Given the description of an element on the screen output the (x, y) to click on. 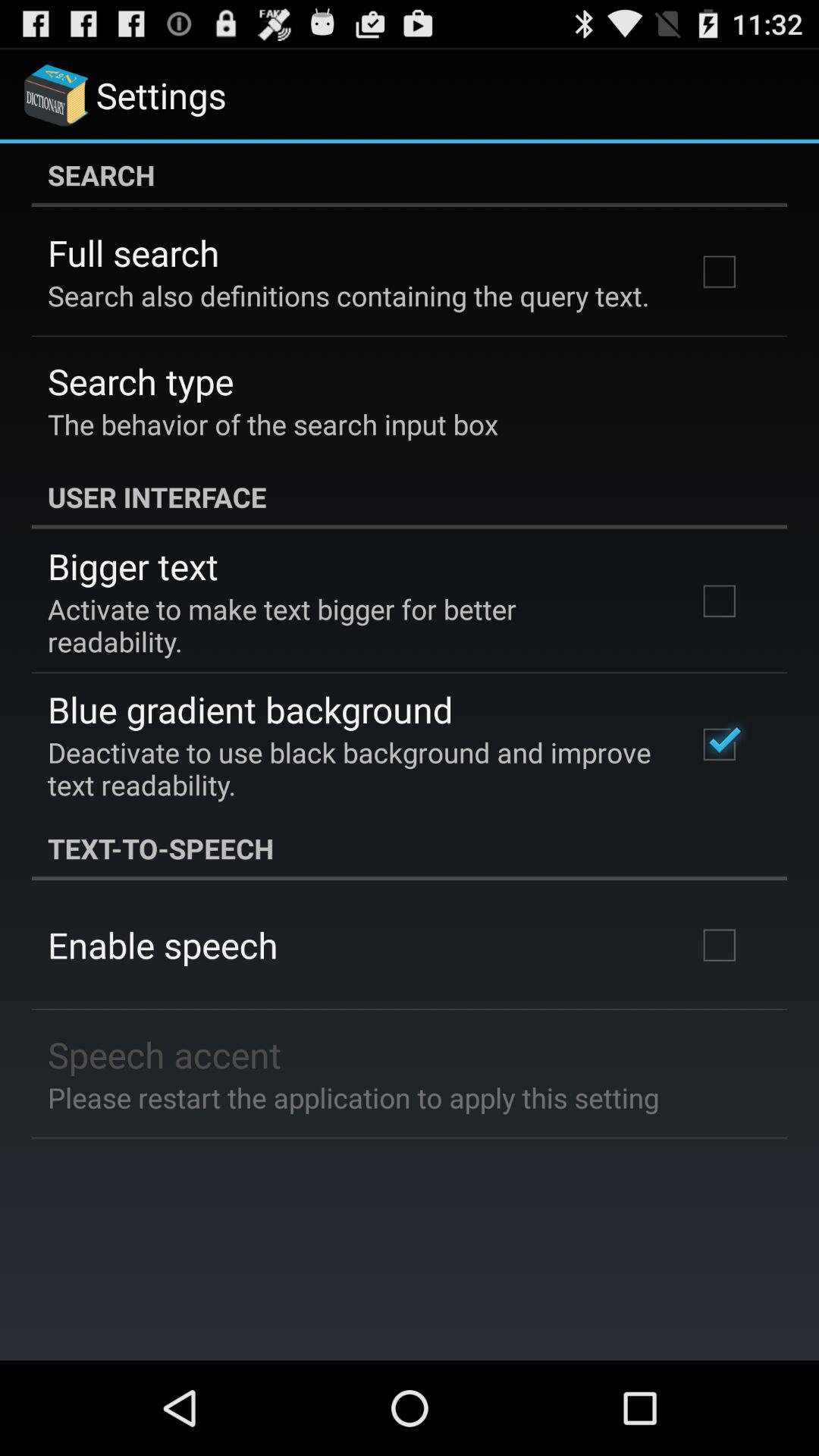
click item at the bottom (353, 1097)
